Given the description of an element on the screen output the (x, y) to click on. 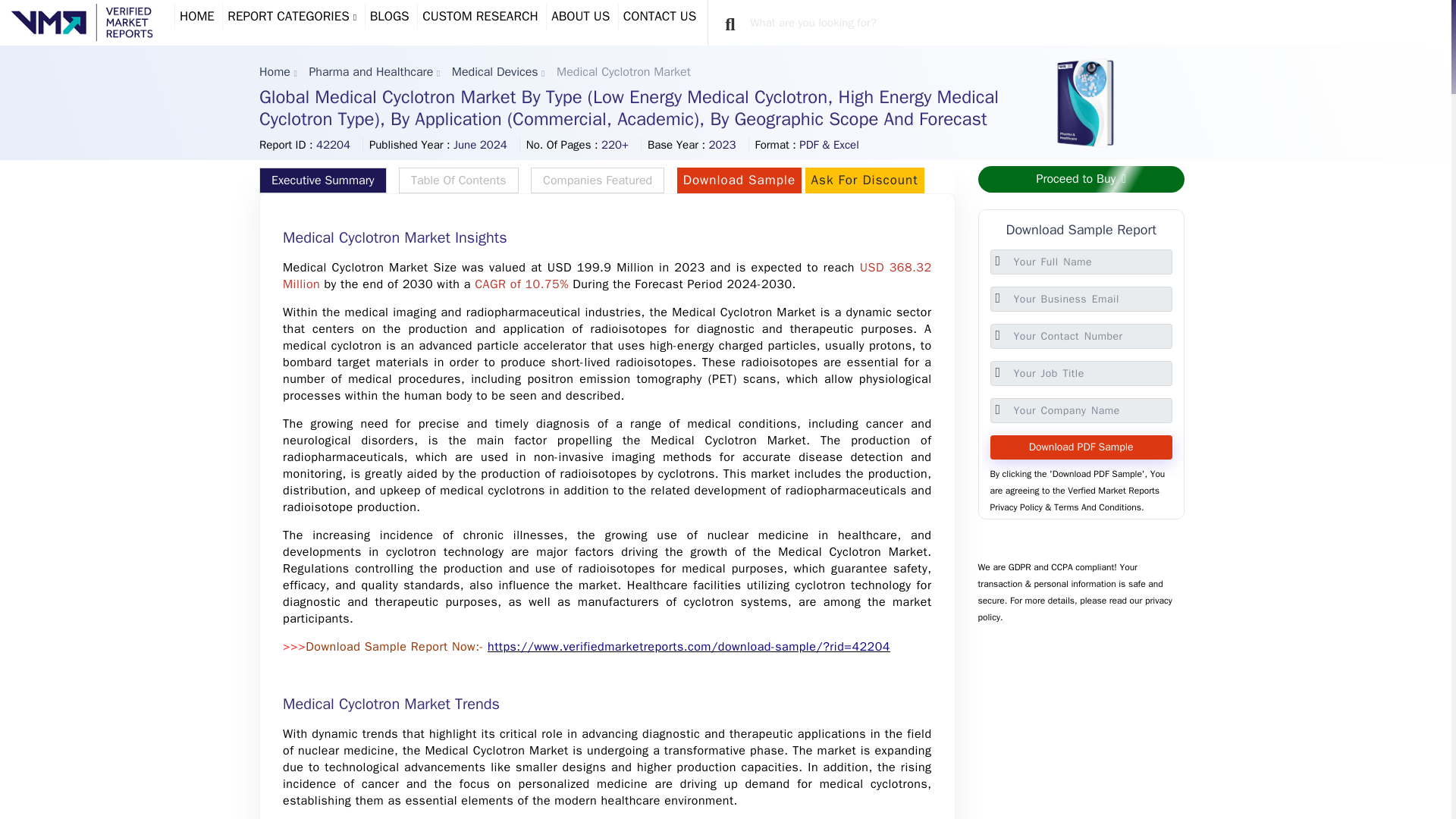
Download Sample (739, 180)
Table Of Contents (458, 180)
Home (274, 71)
CONTACT US (660, 16)
Pharma and Healthcare (370, 71)
ABOUT US (579, 16)
Medical Devices (494, 71)
BLOGS (389, 16)
CUSTOM RESEARCH (480, 16)
Executive Summary (323, 180)
HOME (197, 16)
Ask For Discount (864, 180)
REPORT CATEGORIES (291, 16)
Companies Featured (597, 180)
